Given the description of an element on the screen output the (x, y) to click on. 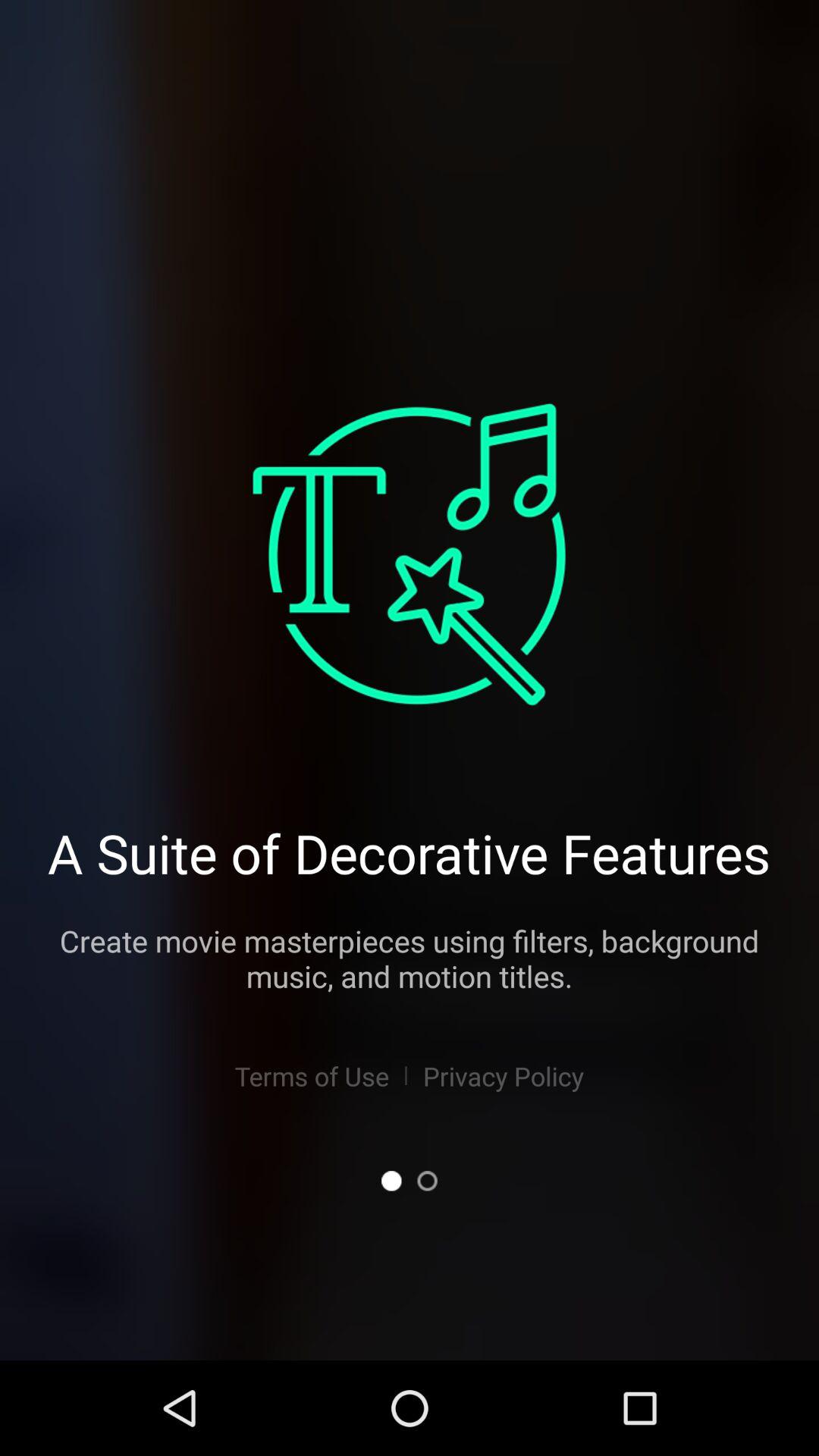
jump until the terms of use icon (311, 1075)
